Given the description of an element on the screen output the (x, y) to click on. 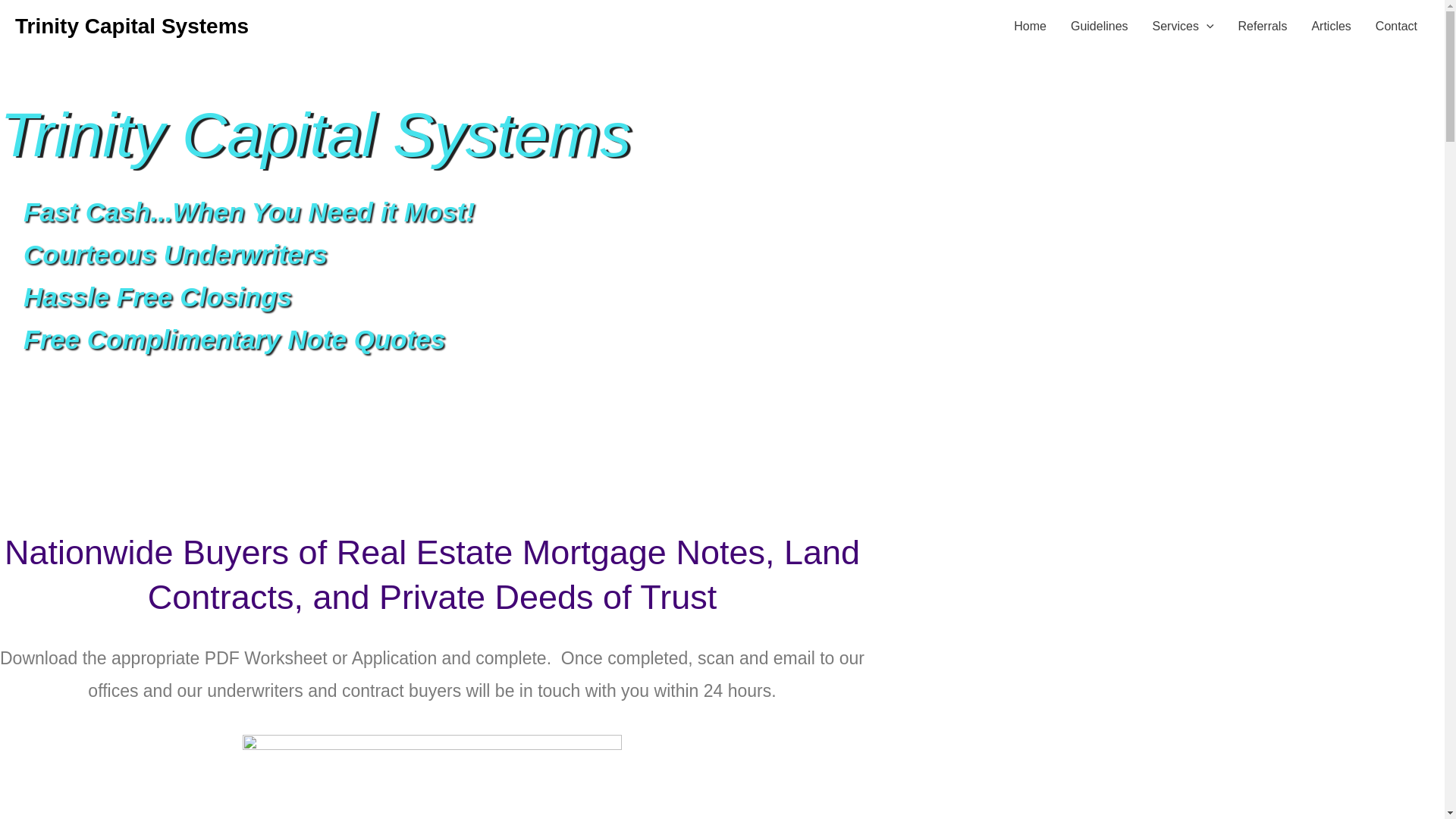
Trinity Capital Systems (131, 25)
Guidelines (1099, 26)
Contact (1395, 26)
Services (1182, 26)
Referrals (1261, 26)
Articles (1330, 26)
Home (1029, 26)
